Given the description of an element on the screen output the (x, y) to click on. 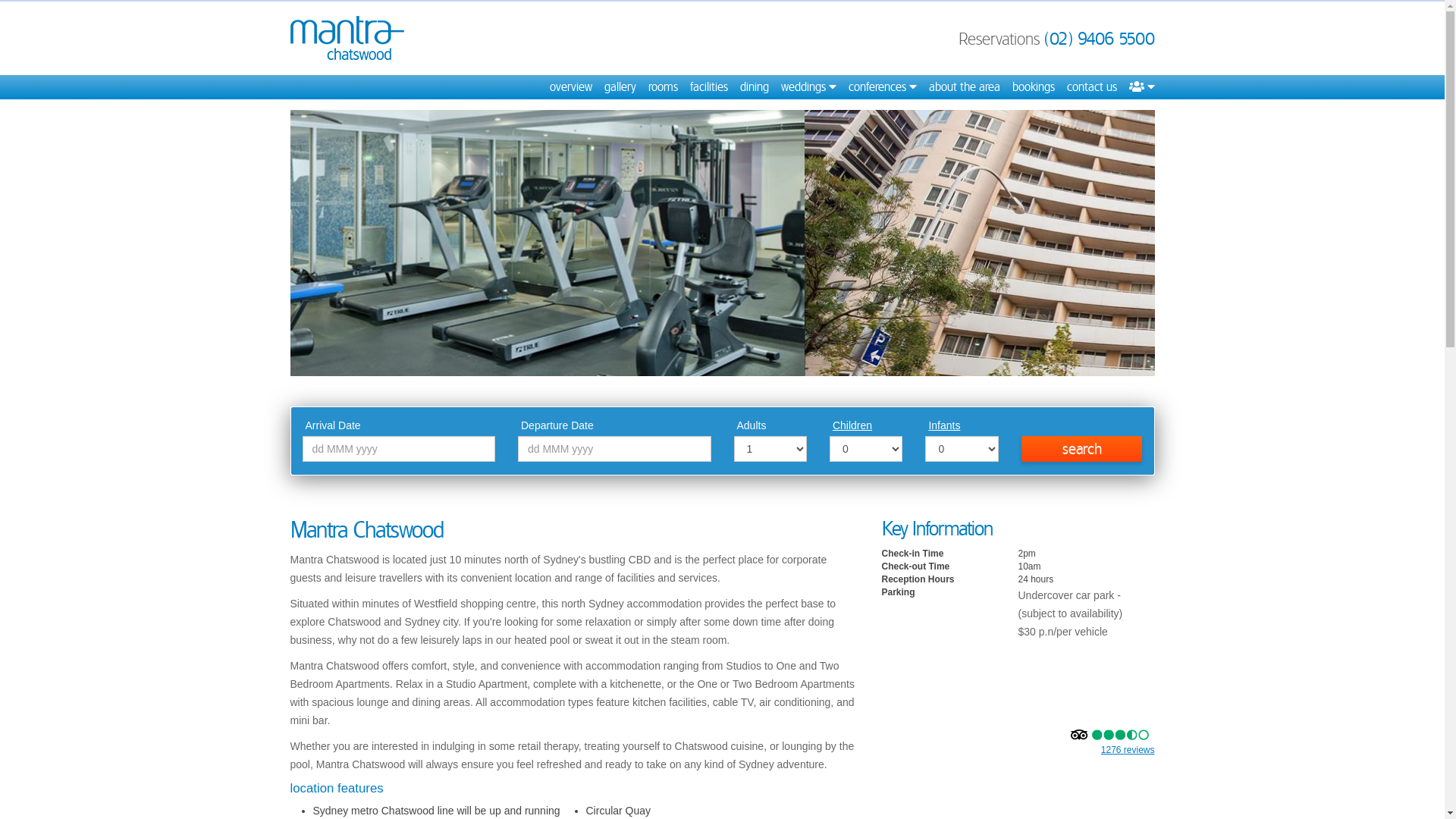
bookings Element type: text (1032, 87)
overview Element type: text (570, 87)
conferences Element type: text (881, 87)
gallery Element type: text (619, 87)
about the area Element type: text (963, 87)
rooms Element type: text (662, 87)
weddings Element type: text (808, 87)
dining Element type: text (754, 87)
Gym - Mantra Chatswood Element type: hover (711, 242)
Mantra Chatswood Hotel Element type: hover (346, 37)
1276 reviews Element type: text (1127, 749)
(02) 9406 5500 Element type: text (1098, 38)
contact us Element type: text (1091, 87)
search Element type: text (1081, 448)
facilities Element type: text (709, 87)
